Given the description of an element on the screen output the (x, y) to click on. 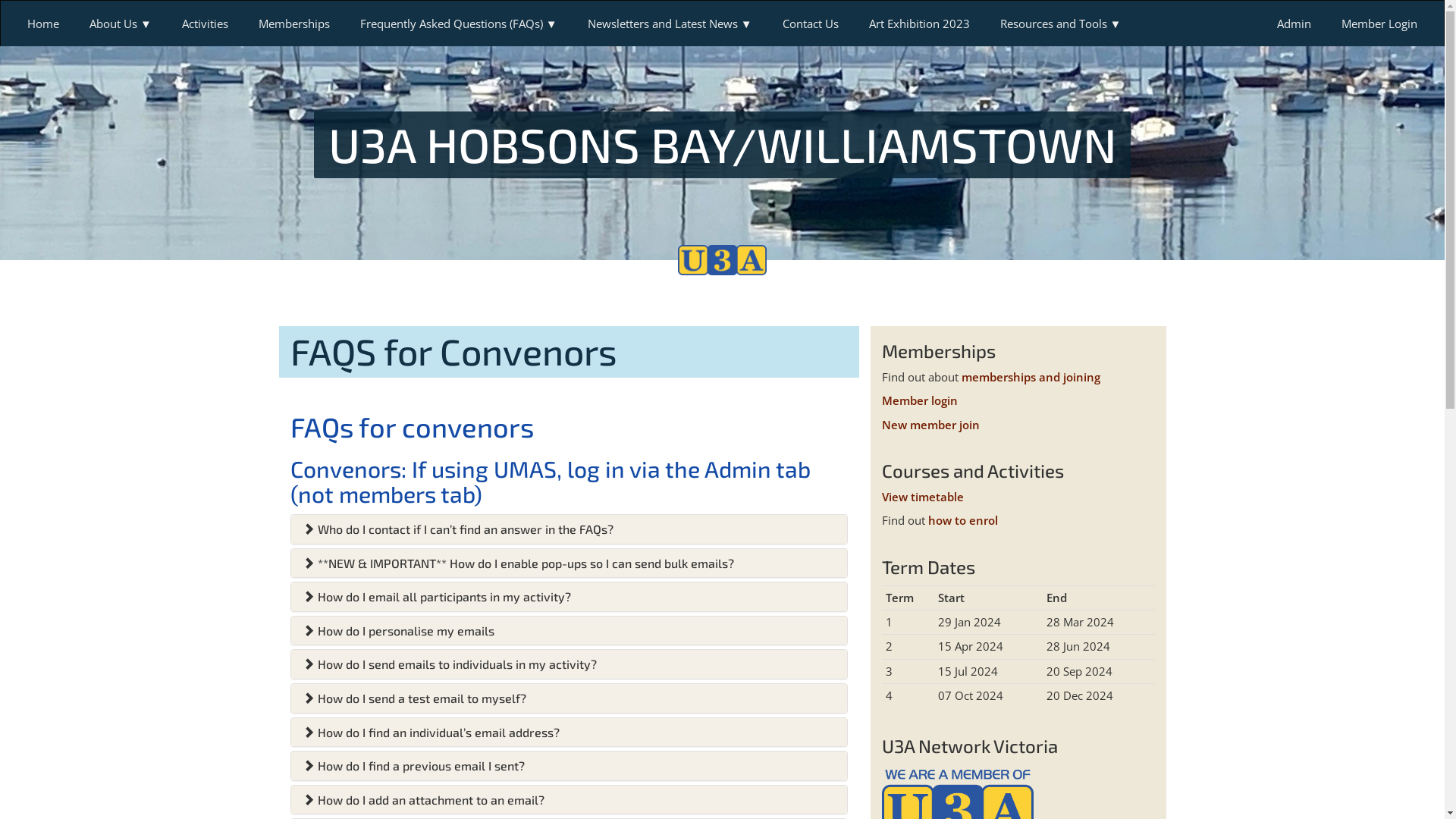
Home Element type: text (43, 23)
Art Exhibition 2023 Element type: text (919, 23)
Member login Element type: text (919, 399)
Newsletters and Latest News Element type: text (669, 23)
Contact Us Element type: text (810, 23)
Member Login Element type: text (1379, 23)
memberships and joining Element type: text (1030, 376)
About Us Element type: text (120, 23)
New member join Element type: text (930, 424)
View timetable Element type: text (922, 496)
Activities Element type: text (204, 23)
Resources and Tools Element type: text (1060, 23)
U3A HOBSONS BAY/WILLIAMSTOWN Element type: text (722, 147)
Memberships Element type: text (294, 23)
Admin Element type: text (1293, 23)
Frequently Asked Questions (FAQs) Element type: text (458, 23)
how to enrol Element type: text (962, 519)
